Given the description of an element on the screen output the (x, y) to click on. 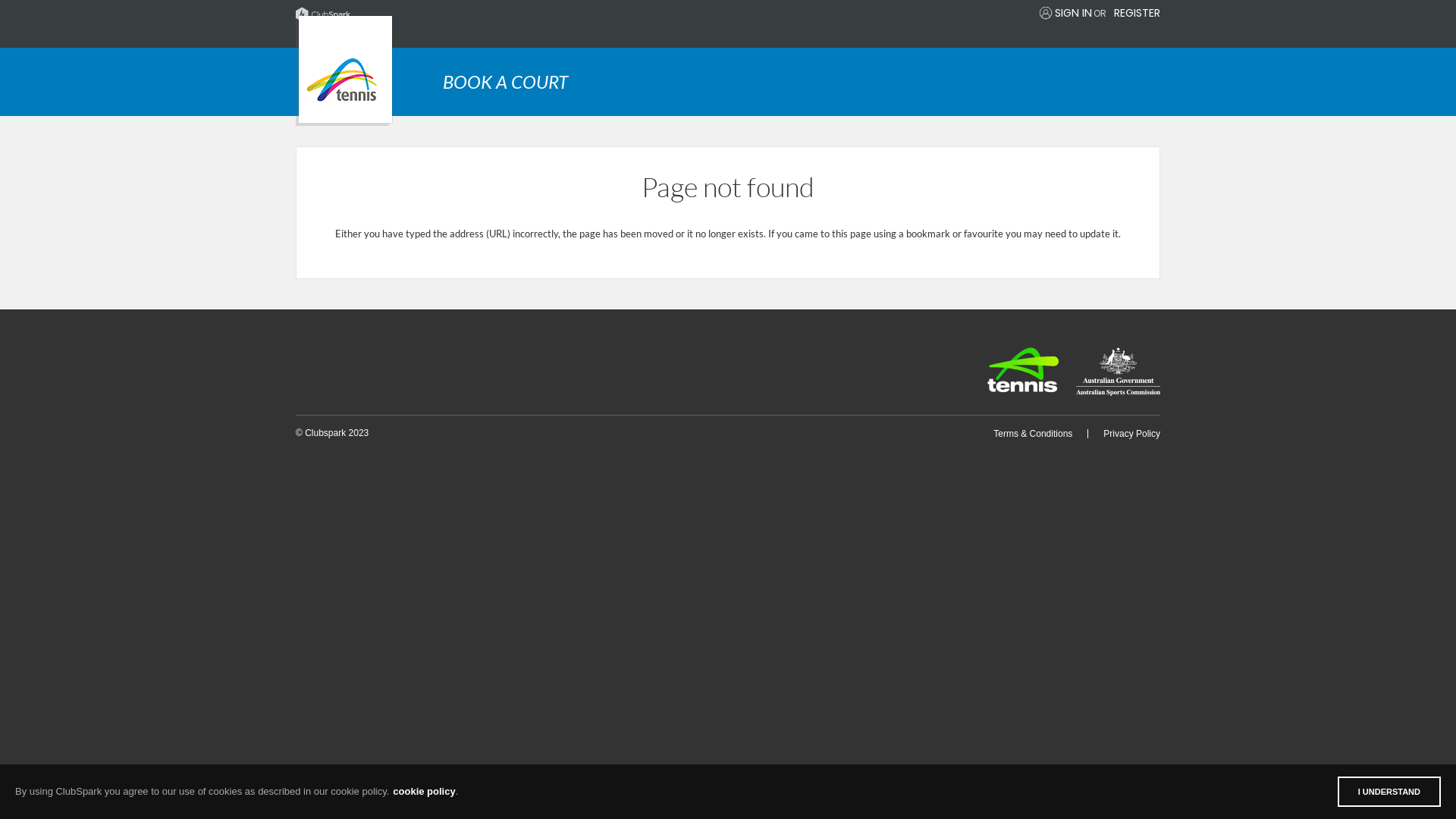
Privacy Policy Element type: text (1131, 433)
I UNDERSTAND Element type: text (1388, 791)
Terms & Conditions Element type: text (1032, 433)
BOOK A COURT Element type: text (801, 81)
cookie policy Element type: text (423, 791)
Start Playing Element type: hover (343, 70)
SIGN IN Element type: text (1073, 12)
ClubSpark Element type: text (511, 13)
Tennis Australia Element type: hover (1022, 370)
REGISTER Element type: text (1136, 12)
